Given the description of an element on the screen output the (x, y) to click on. 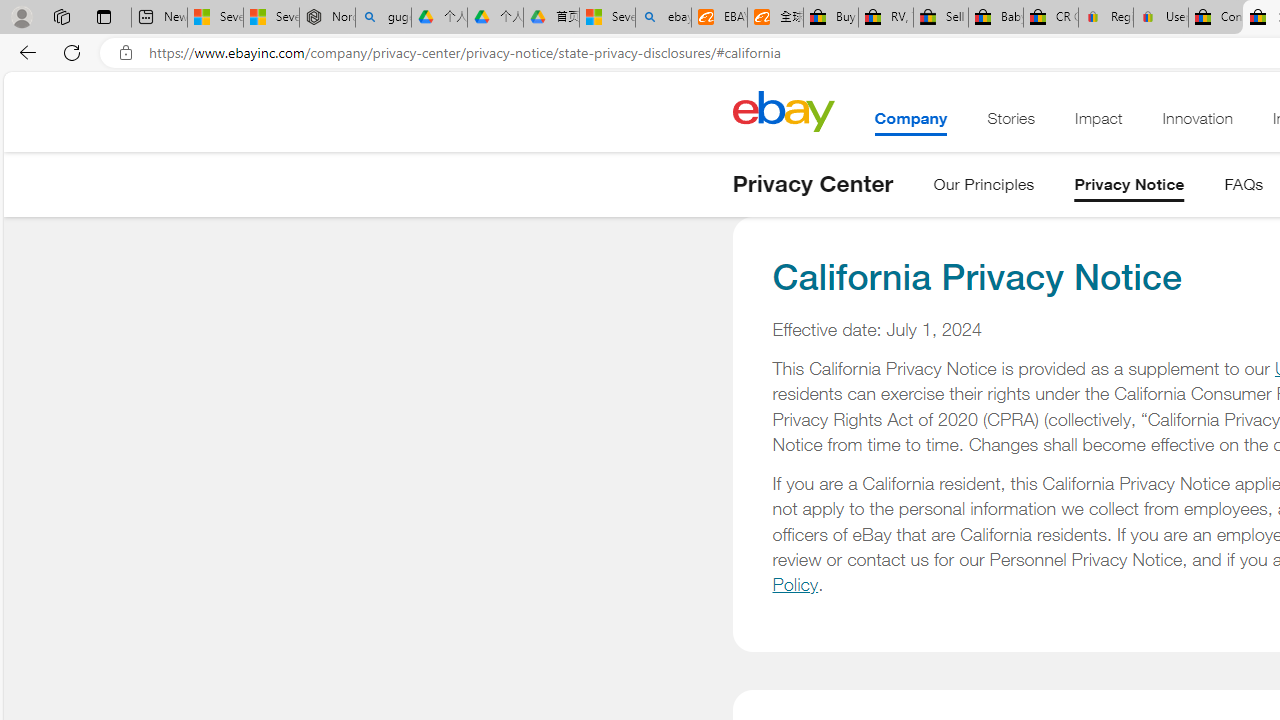
User Privacy Notice | eBay (1160, 17)
Privacy Center (812, 183)
ebay - Search (663, 17)
guge yunpan - Search (382, 17)
Baby Keepsakes & Announcements for sale | eBay (995, 17)
Consumer Health Data Privacy Policy - eBay Inc. (1215, 17)
